Given the description of an element on the screen output the (x, y) to click on. 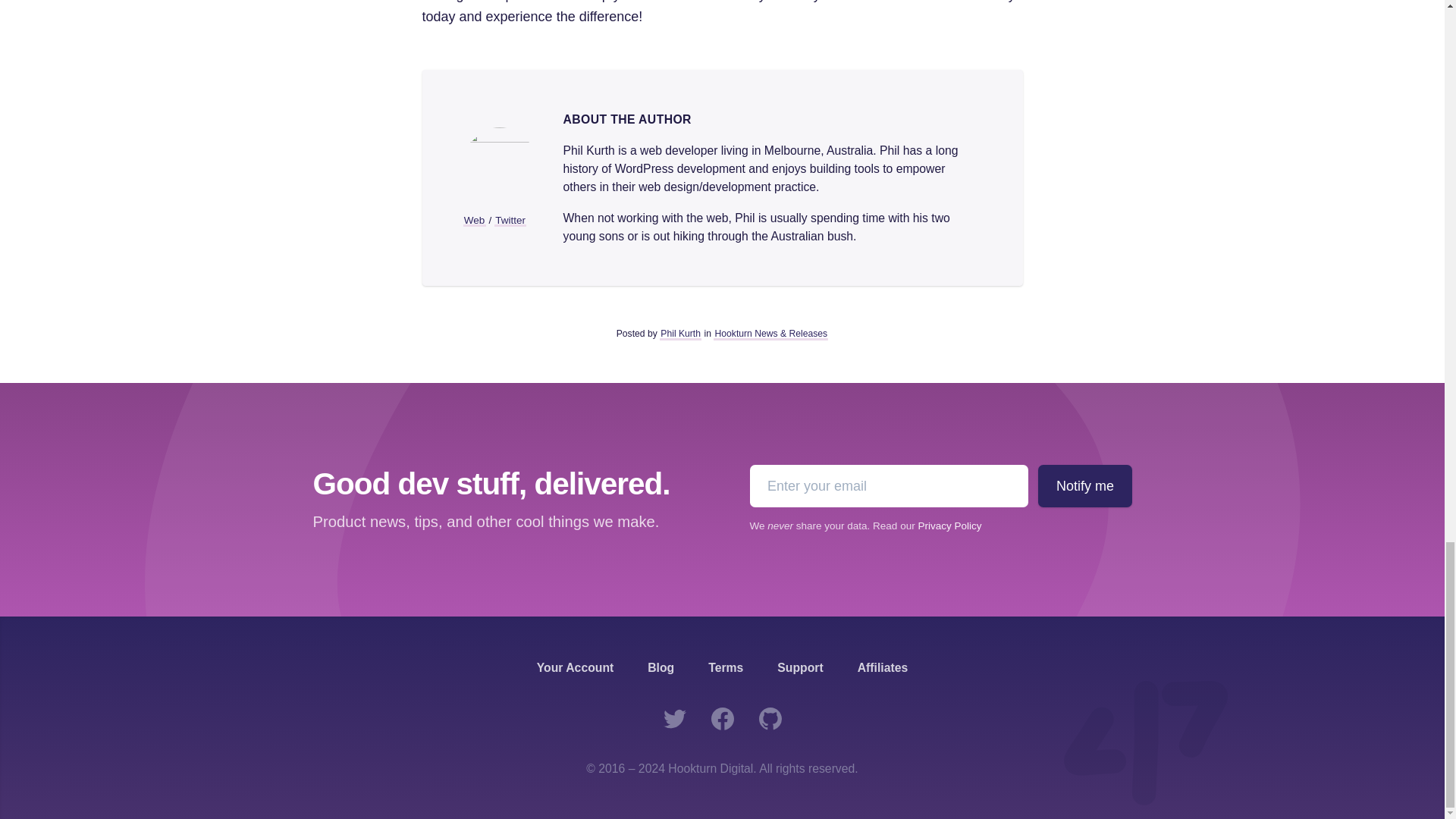
GitHub (770, 718)
Affiliates (882, 667)
Your Account (575, 667)
Blog (660, 667)
Web (473, 220)
Twitter (674, 718)
Facebook (721, 718)
Privacy Policy (949, 525)
Twitter (510, 220)
Facebook (721, 718)
